Given the description of an element on the screen output the (x, y) to click on. 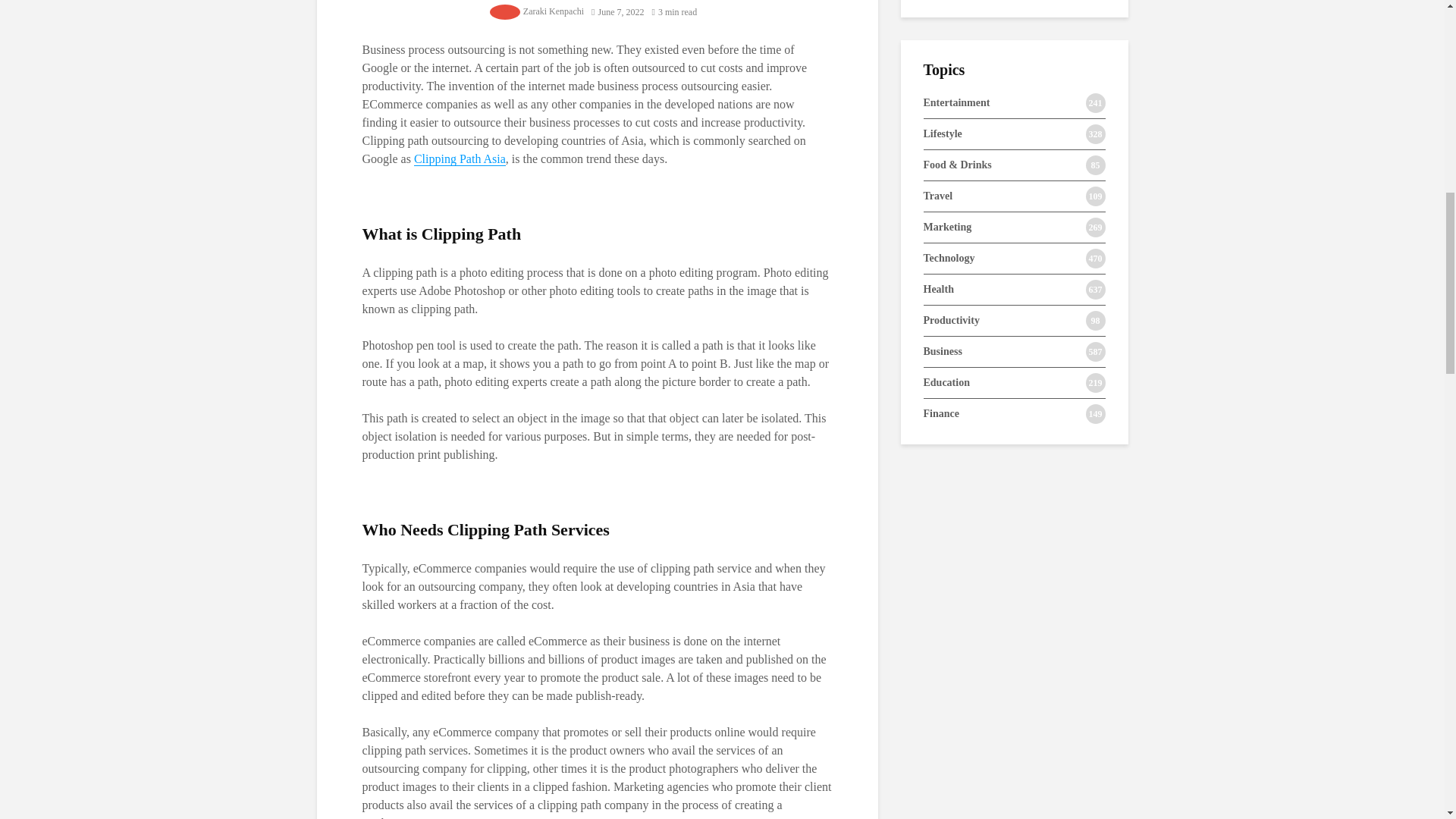
Clipping Path Asia (459, 159)
Zaraki Kenpachi (552, 10)
